Given the description of an element on the screen output the (x, y) to click on. 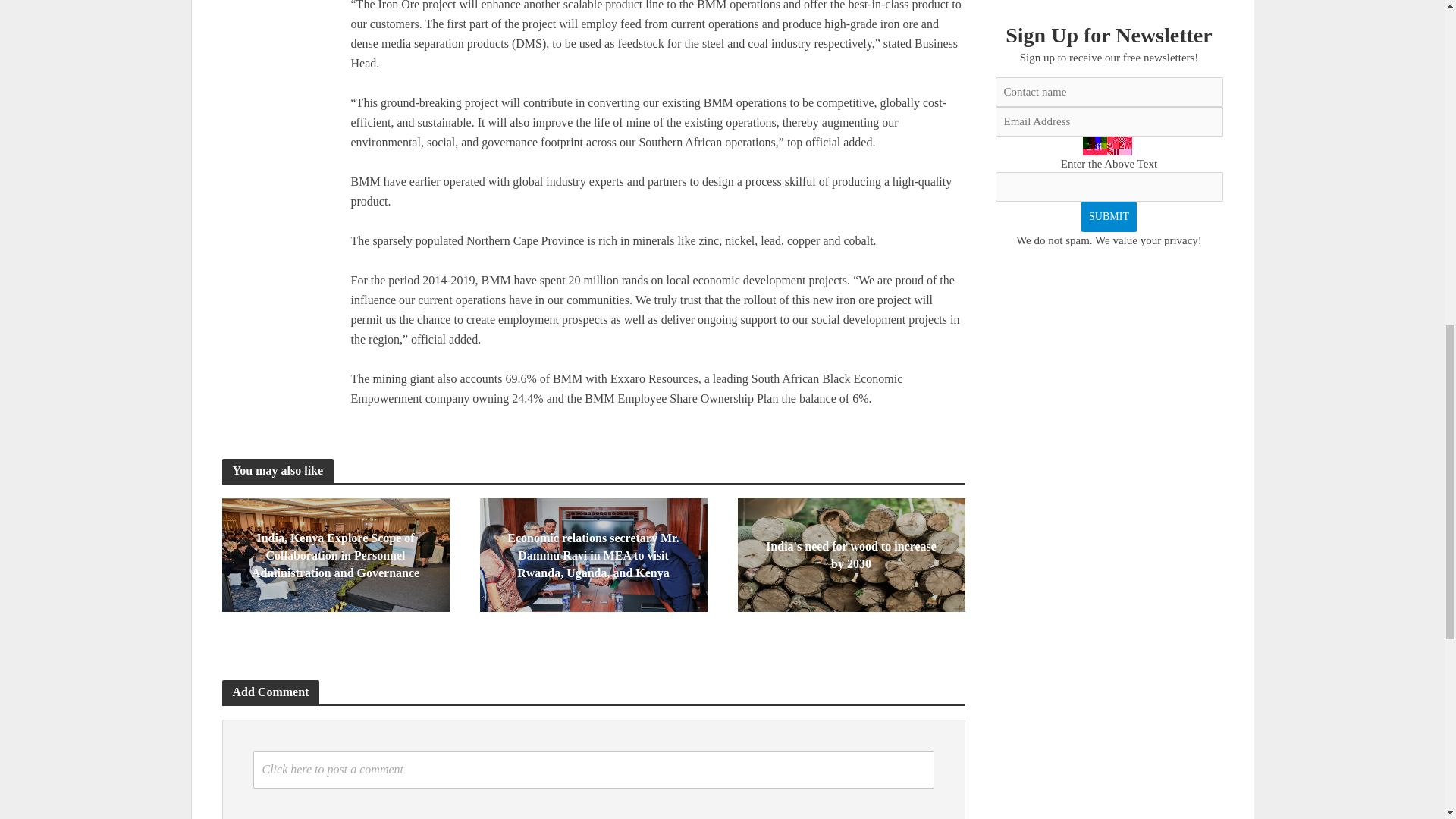
submit (1109, 216)
